Given the description of an element on the screen output the (x, y) to click on. 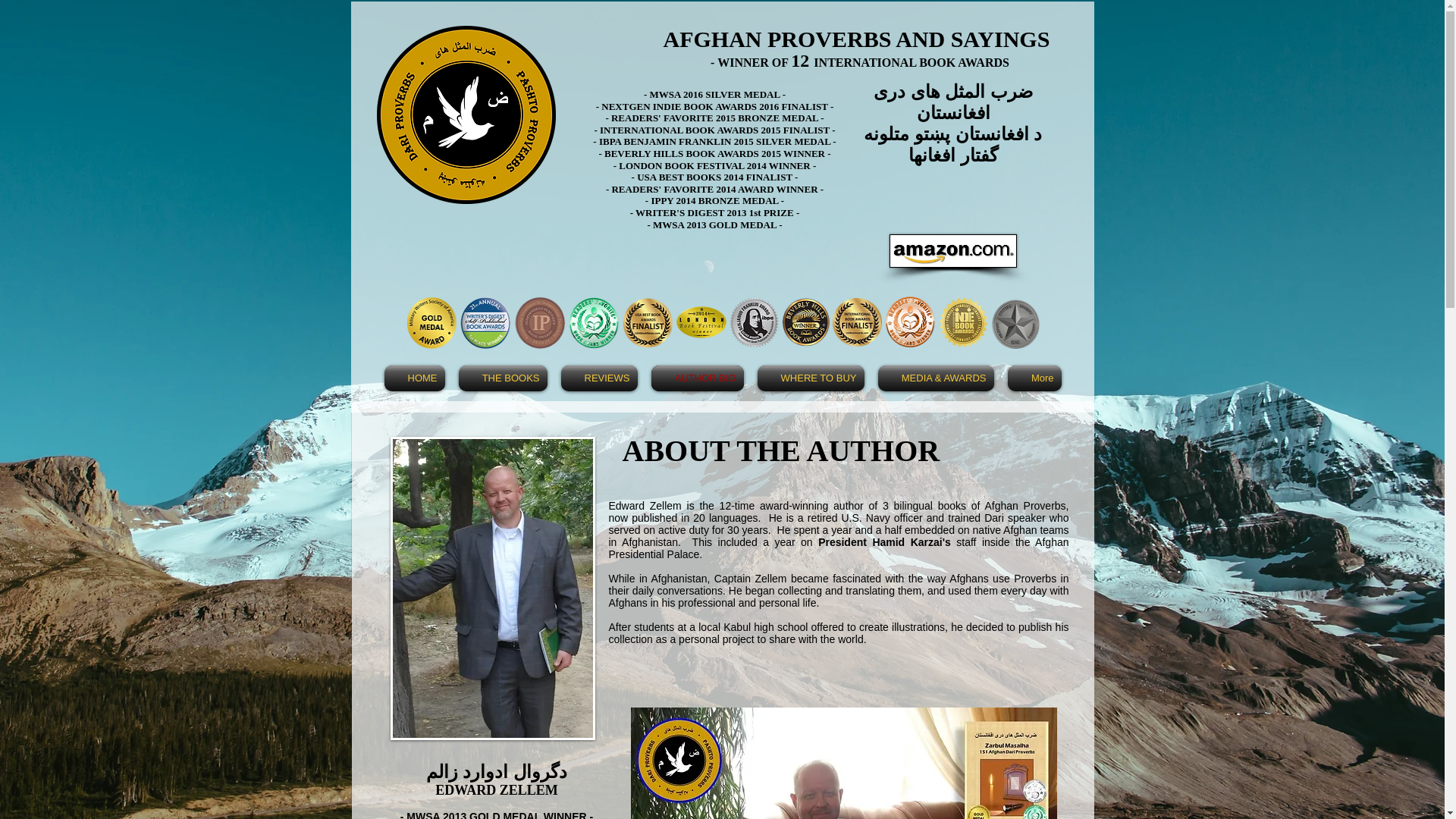
AUTHOR BIO (698, 378)
HOME (417, 378)
THE BOOKS (502, 378)
WHERE TO BUY (810, 378)
REVIEWS (598, 378)
